Given the description of an element on the screen output the (x, y) to click on. 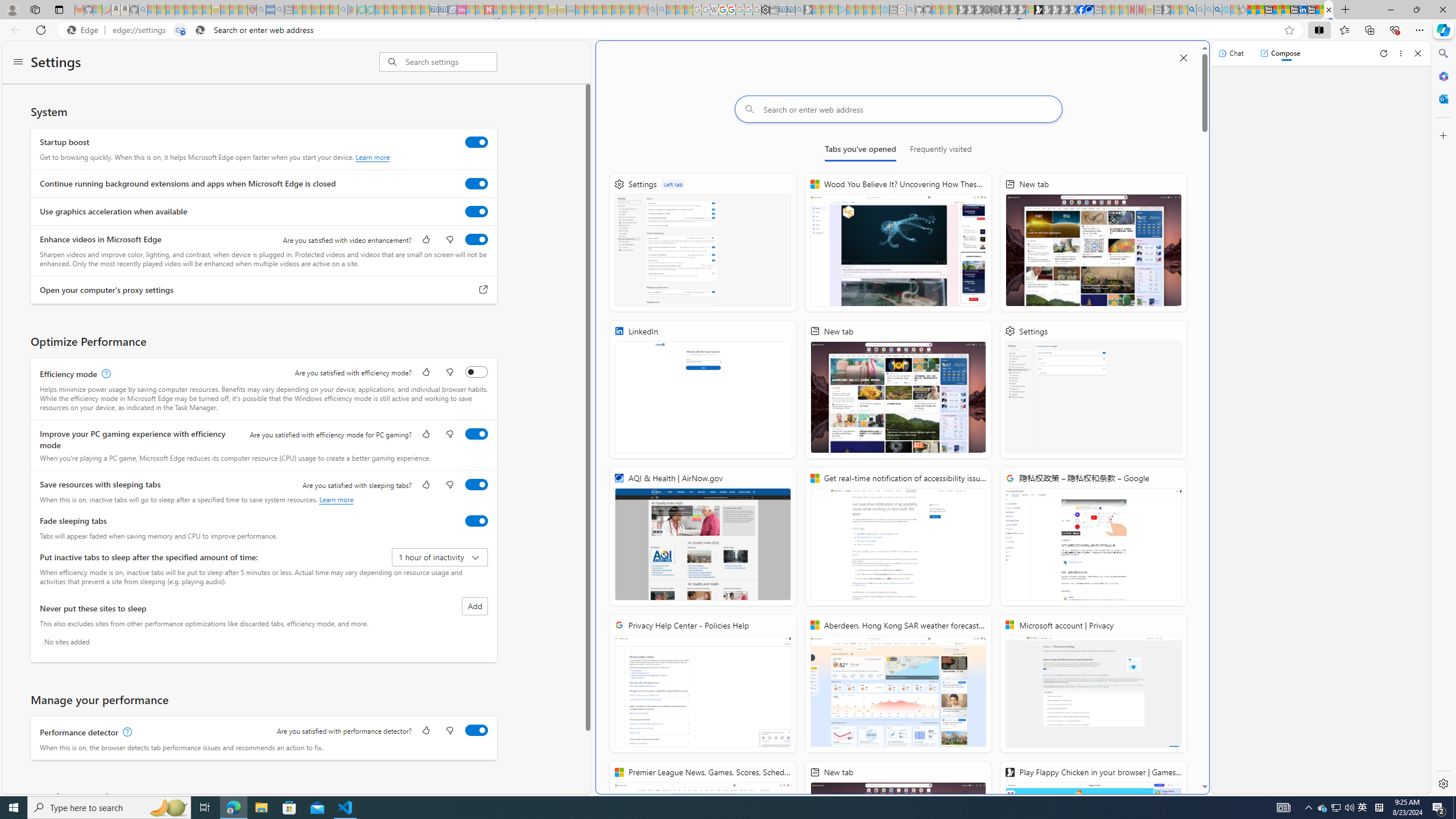
Learn more (335, 499)
New split screen (1328, 9)
